Given the description of an element on the screen output the (x, y) to click on. 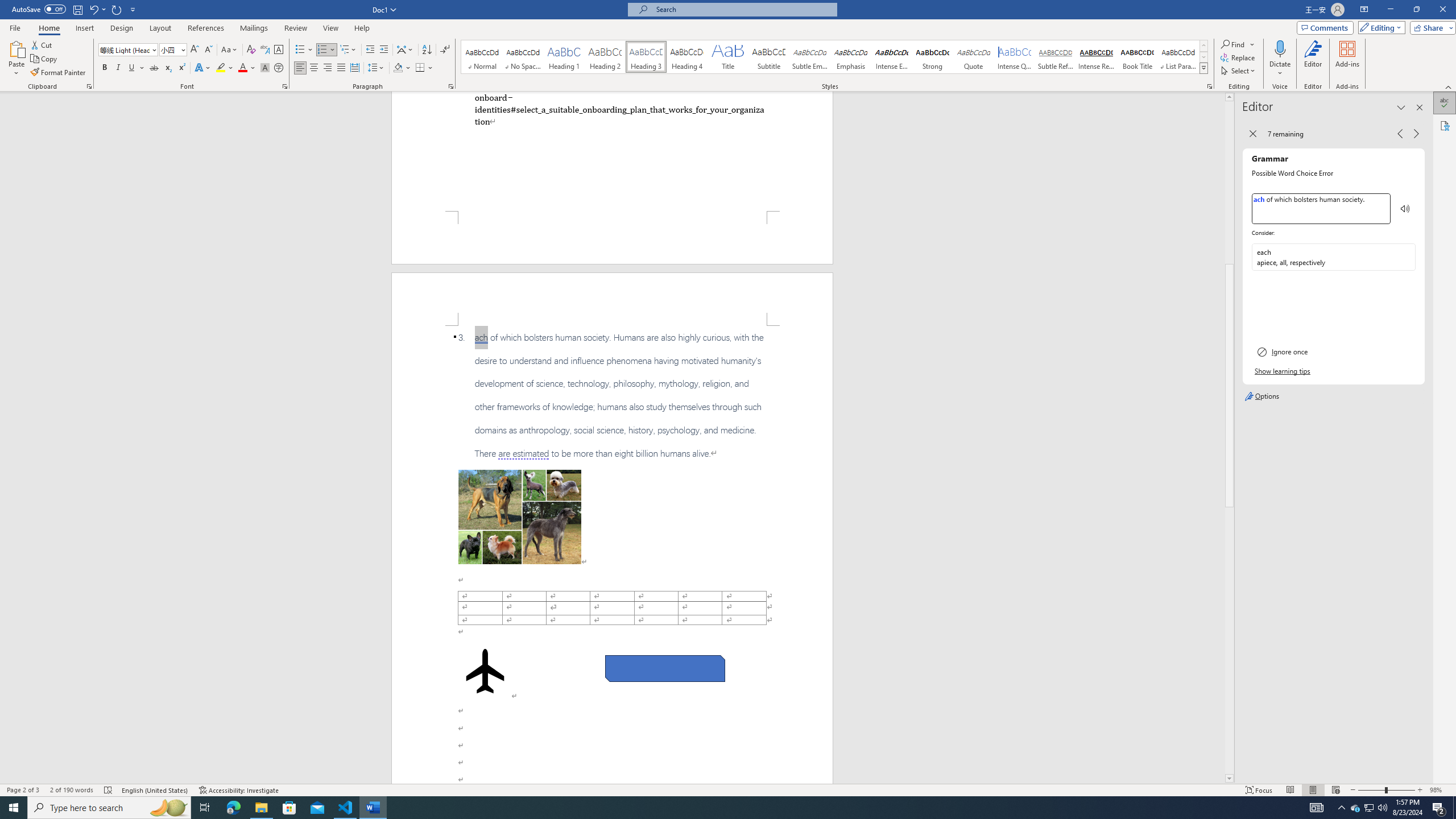
Select (1238, 69)
Header -Section 1- (611, 298)
Increase Indent (383, 49)
Heading 4 (686, 56)
Open (182, 49)
Strong (932, 56)
Intense Emphasis (891, 56)
Ignore once (1333, 351)
Next Issue, 7 remaining (1416, 133)
Subscript (167, 67)
